Given the description of an element on the screen output the (x, y) to click on. 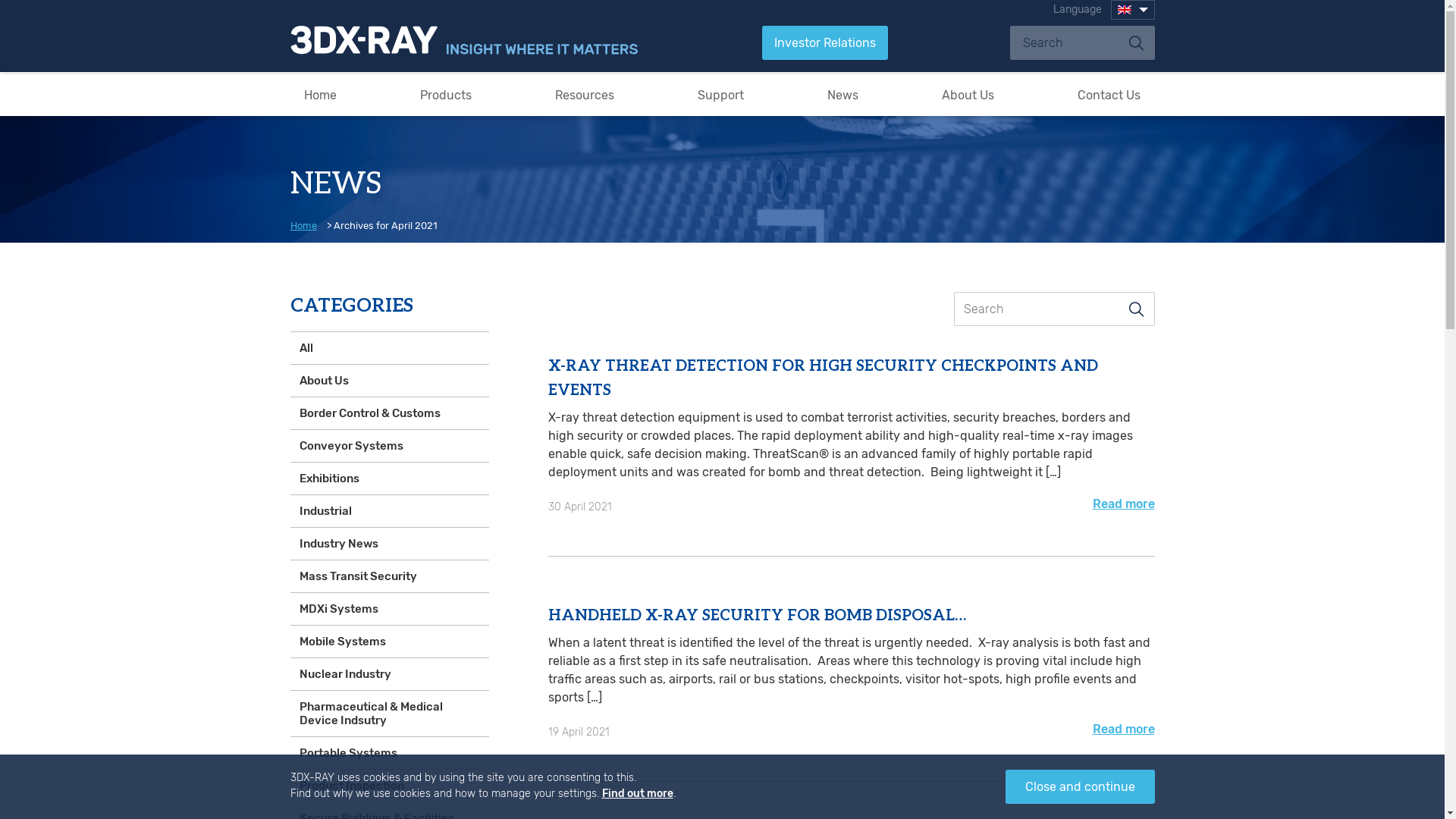
Product Inspection Element type: text (388, 785)
About Us Element type: text (967, 94)
Products Element type: text (445, 94)
Contact Us Element type: text (1108, 94)
Home Element type: text (320, 94)
Find out more Element type: text (637, 793)
About Us Element type: text (388, 380)
Border Control & Customs Element type: text (388, 413)
Exhibitions Element type: text (388, 478)
Close and continue Element type: text (1079, 786)
Mass Transit Security Element type: text (388, 576)
Support Element type: text (720, 94)
Read more Element type: text (1123, 728)
Portable Systems Element type: text (388, 752)
Resources Element type: text (584, 94)
Nuclear Industry Element type: text (388, 674)
Read more Element type: text (1123, 503)
Pharmaceutical & Medical Device Indsutry Element type: text (388, 713)
Industrial Element type: text (388, 511)
Investor Relations Element type: text (824, 42)
Mobile Systems Element type: text (388, 641)
Industry News Element type: text (388, 543)
Conveyor Systems Element type: text (388, 445)
All Element type: text (388, 348)
MDXi Systems Element type: text (388, 608)
Home Element type: text (306, 225)
Search Element type: text (1135, 308)
News Element type: text (842, 94)
